Given the description of an element on the screen output the (x, y) to click on. 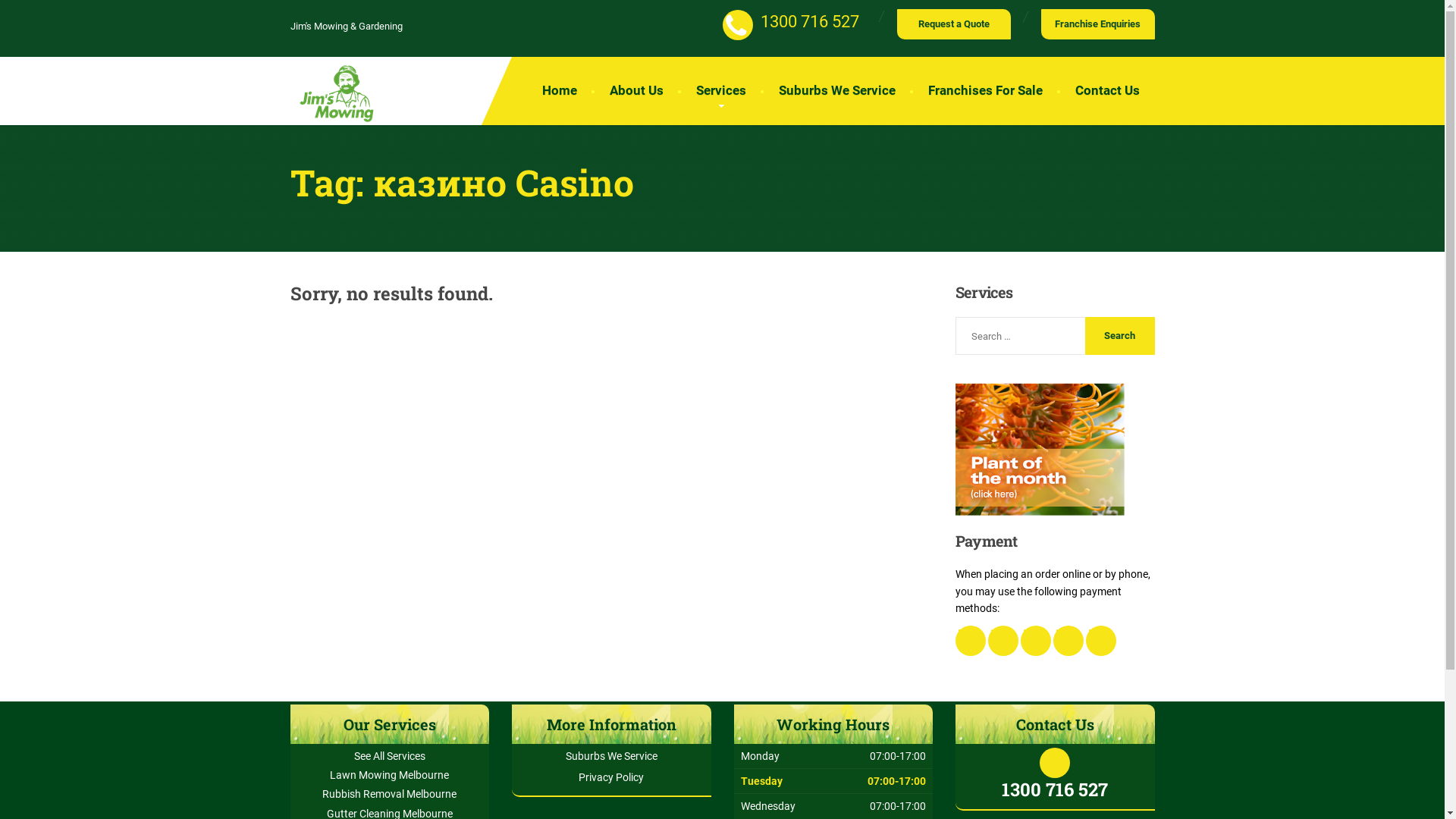
Search Element type: text (1119, 335)
Suburbs We Service Element type: text (836, 90)
Lawn Mowing Melbourne Element type: text (388, 774)
Franchises For Sale Element type: text (985, 90)
See All Services Element type: text (389, 755)
Privacy Policy Element type: text (610, 776)
Contact Us Element type: text (1107, 90)
Franchise Enquiries Element type: text (1097, 24)
Home Element type: text (558, 90)
About Us Element type: text (636, 90)
Franchise Enquiries Element type: text (1097, 23)
Suburbs We Service Element type: text (611, 755)
Services Element type: text (720, 90)
Jim's Mowing Melbourne Northern Suburbs Element type: hover (334, 92)
Request a Quote Element type: text (953, 23)
Rubbish Removal Melbourne Element type: text (389, 793)
Request a Quote Element type: text (953, 24)
